Given the description of an element on the screen output the (x, y) to click on. 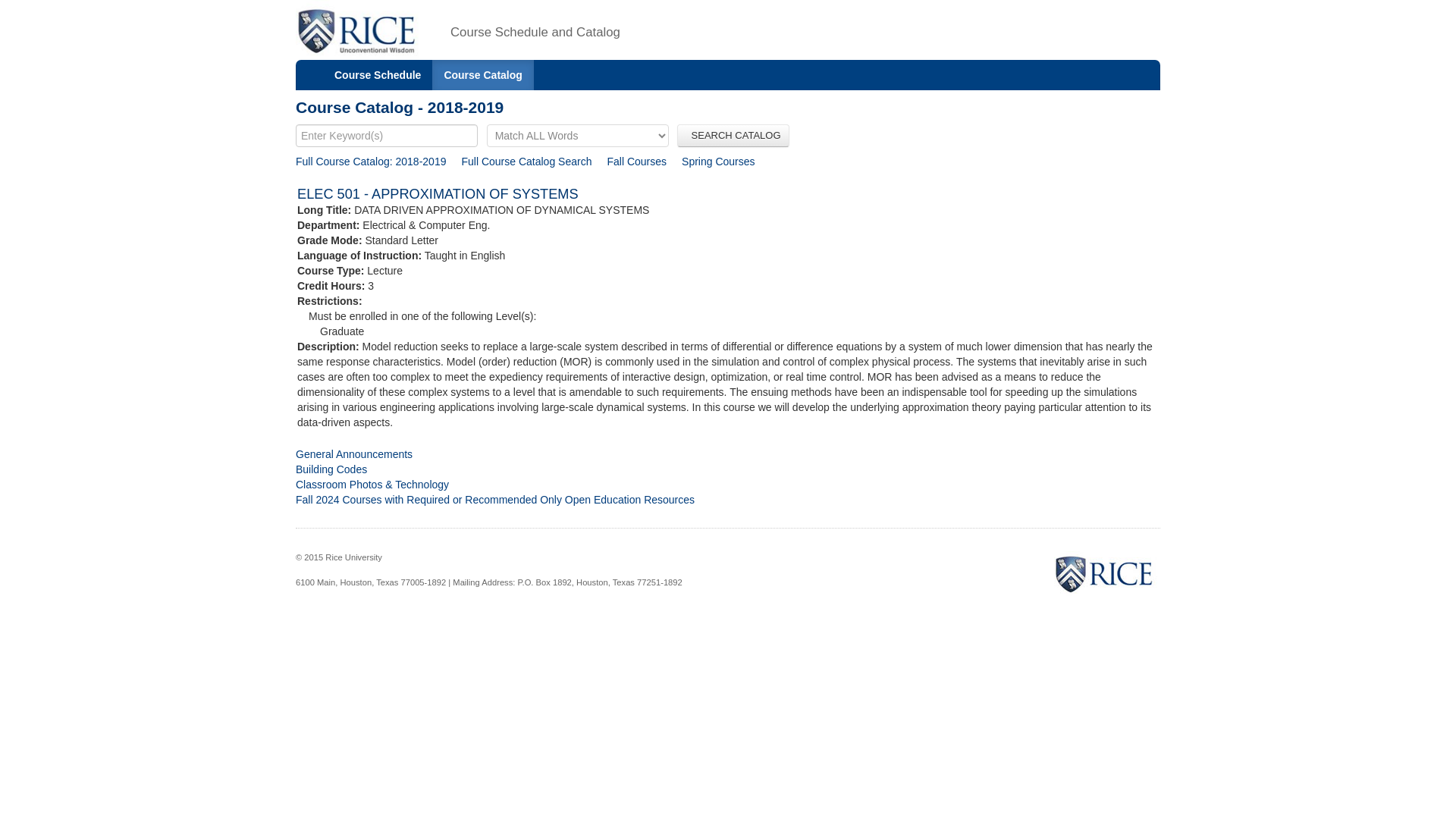
  SEARCH CATALOG (733, 135)
Building Codes (330, 469)
Course Catalog (482, 74)
Full Course Catalog: 2018-2019 (370, 161)
Fall Courses (636, 161)
Spring Courses (718, 161)
Full Course Catalog Search (526, 161)
General Announcements (353, 453)
Course Schedule (377, 74)
